Given the description of an element on the screen output the (x, y) to click on. 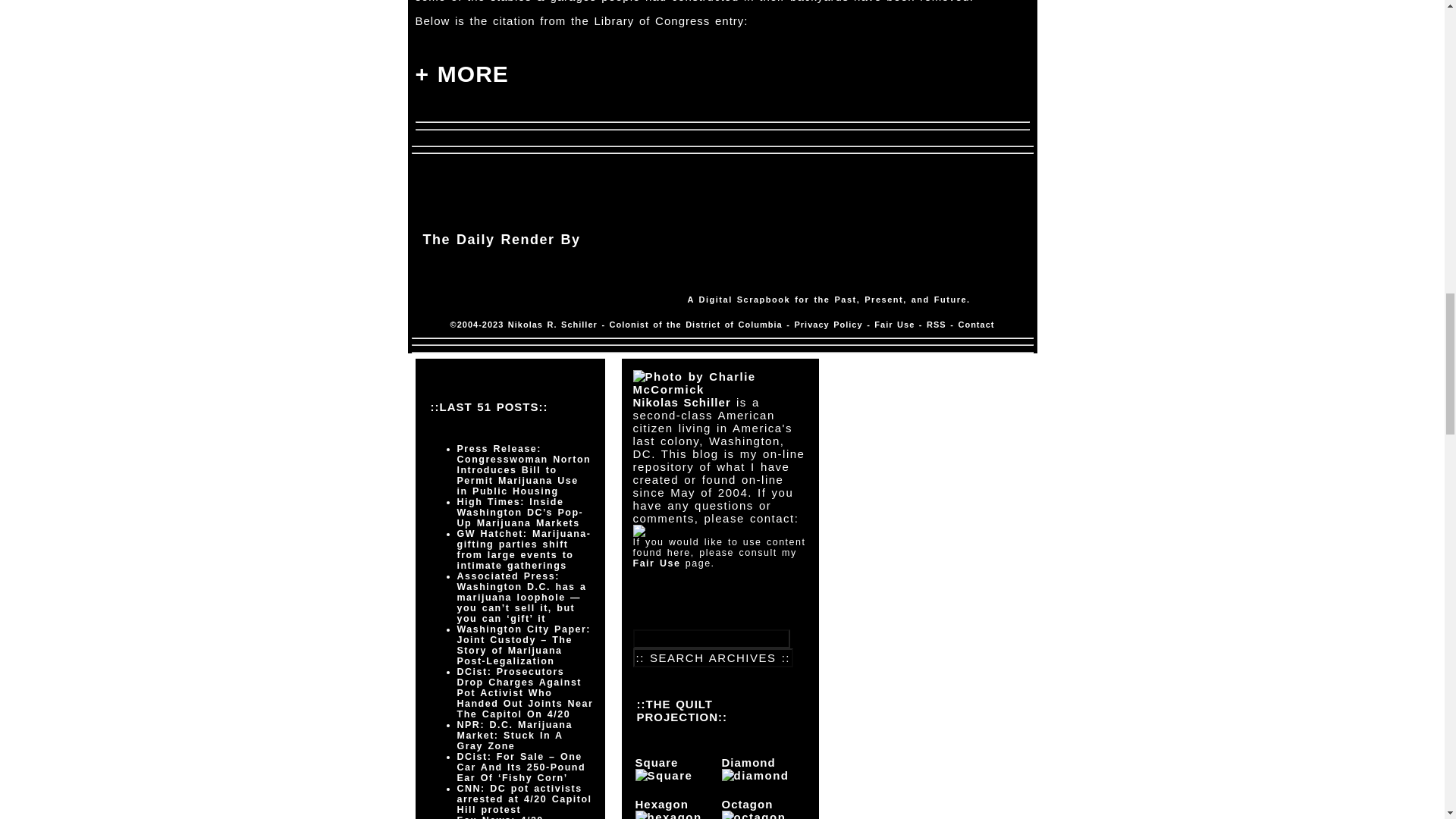
RSS (936, 324)
Fair Use (894, 324)
Photo by Charlie McCormick (718, 382)
Colonist (629, 324)
District of Columbia (734, 324)
A Digital Scrapbook for the Past, Present, and Future. (828, 298)
:: SEARCH ARCHIVES :: (712, 657)
Contact (976, 324)
Privacy Policy (827, 324)
Nikolas R. Schiller (552, 324)
